Given the description of an element on the screen output the (x, y) to click on. 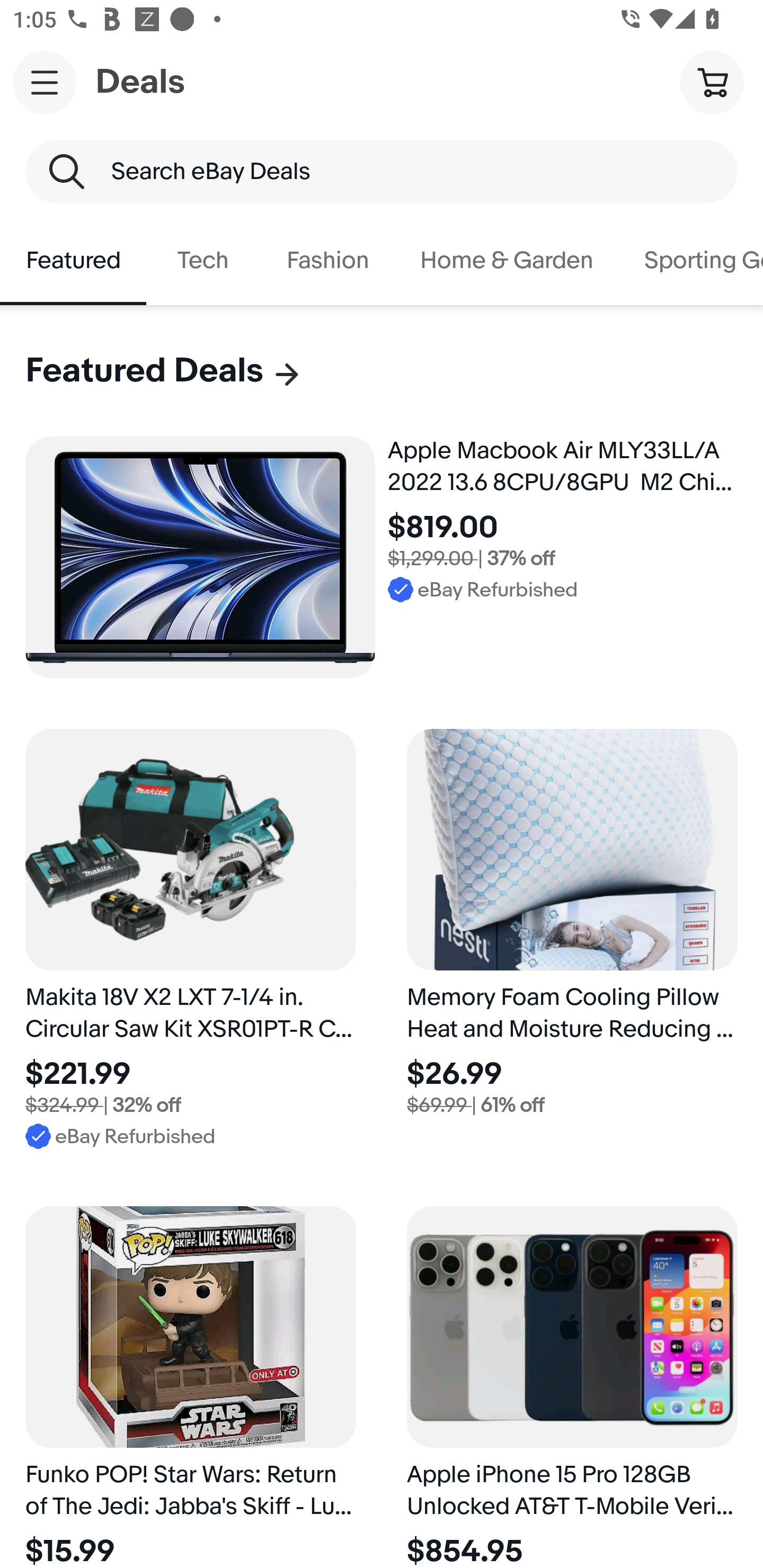
Main navigation, open (44, 82)
Cart button shopping cart (711, 81)
Search eBay Deals Search Keyword Search eBay Deals (381, 171)
Tech. Button. 2 of 7. Tech (203, 260)
Fashion. Button. 3 of 7. Fashion (327, 260)
Home & Garden. Button. 4 of 7. Home & Garden (506, 260)
Sporting Goods. Button. 5 of 7. Sporting Goods (690, 260)
Featured Deals   Featured Deals,7 items (163, 370)
